Given the description of an element on the screen output the (x, y) to click on. 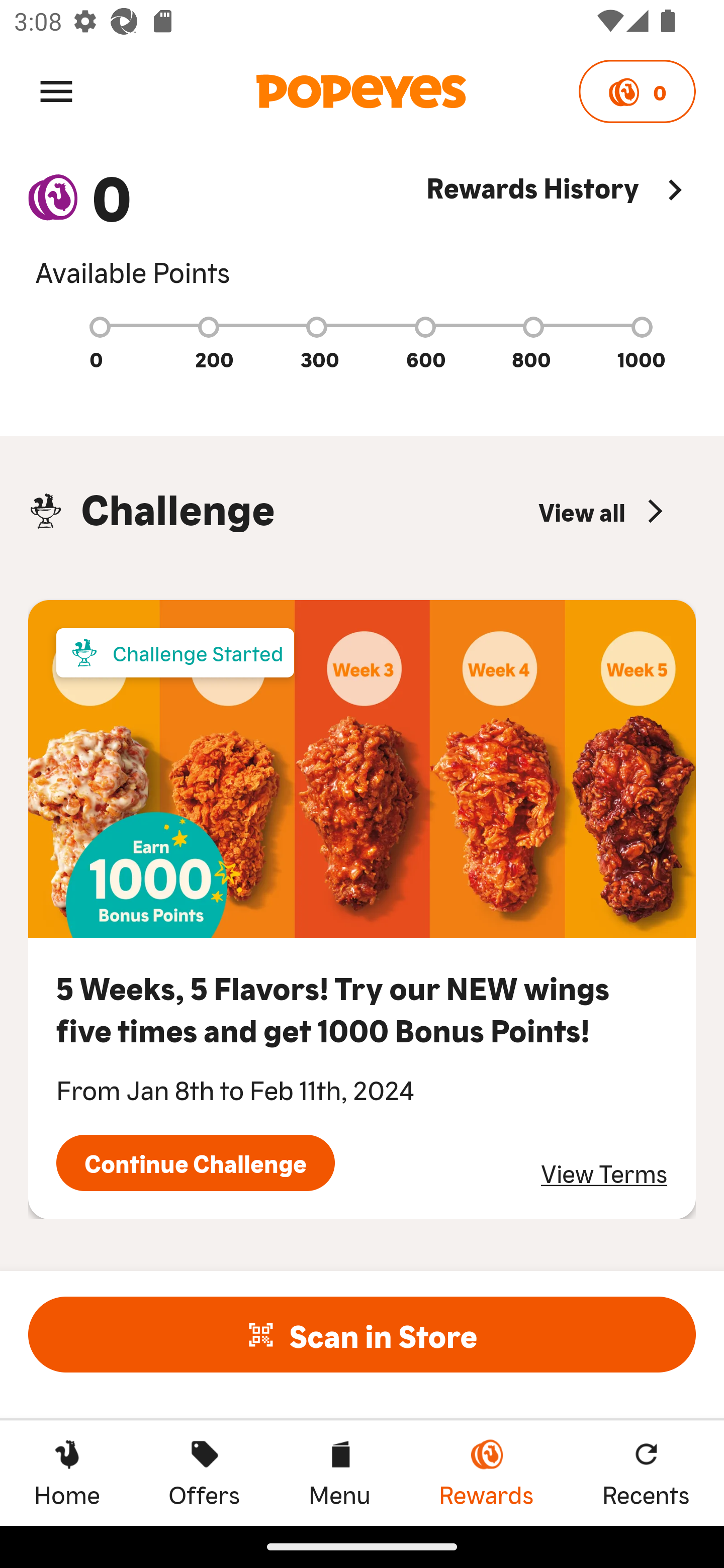
Menu  (56, 90)
0 Points 0 (636, 91)
Rewards History Rewards History  (560, 228)
View all (602, 511)
Continue Challenge (195, 1163)
View Terms (603, 1172)
Scan in Store  Scan in Store (361, 1334)
Home Home Home (66, 1472)
Offers Offers Offers (203, 1472)
Menu Menu Menu (339, 1472)
Recents Recents Recents (646, 1472)
